Given the description of an element on the screen output the (x, y) to click on. 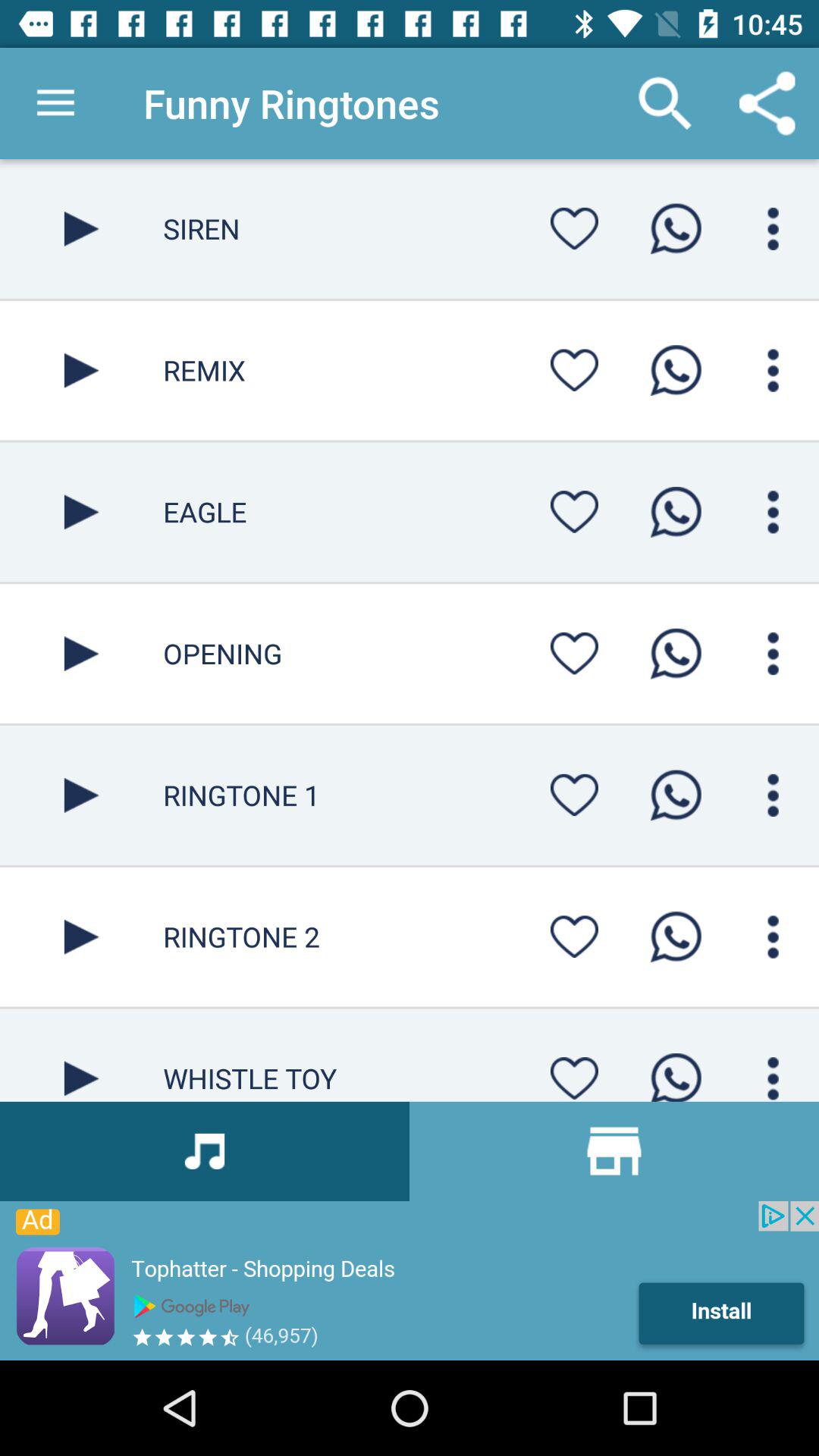
play the song (81, 795)
